Given the description of an element on the screen output the (x, y) to click on. 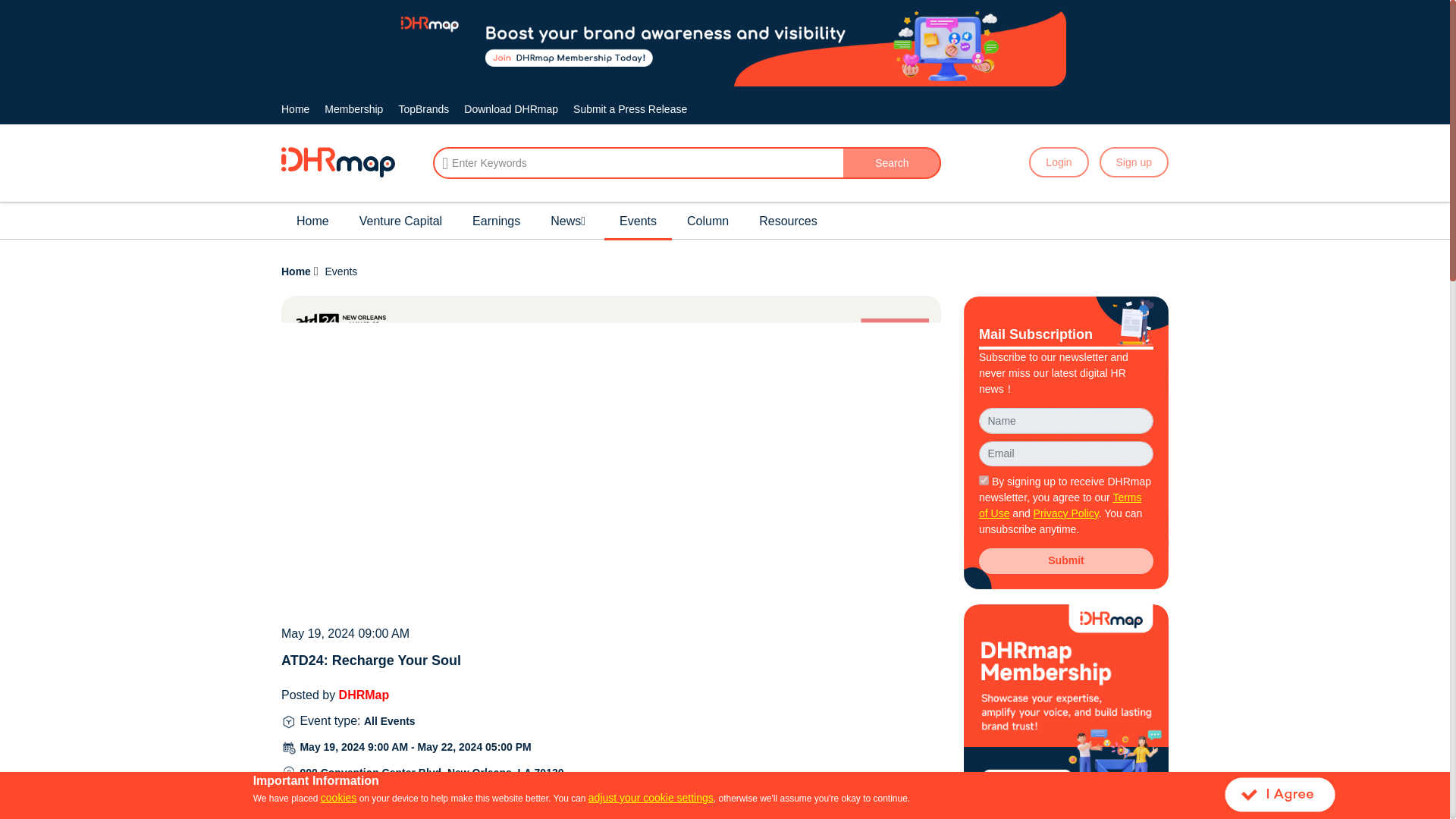
Visit Link (380, 798)
Earnings (495, 220)
accept (983, 480)
Home (294, 109)
News (569, 220)
Download DHRmap (510, 109)
Home (313, 220)
Column (708, 220)
Events (638, 220)
Membership (353, 109)
